Given the description of an element on the screen output the (x, y) to click on. 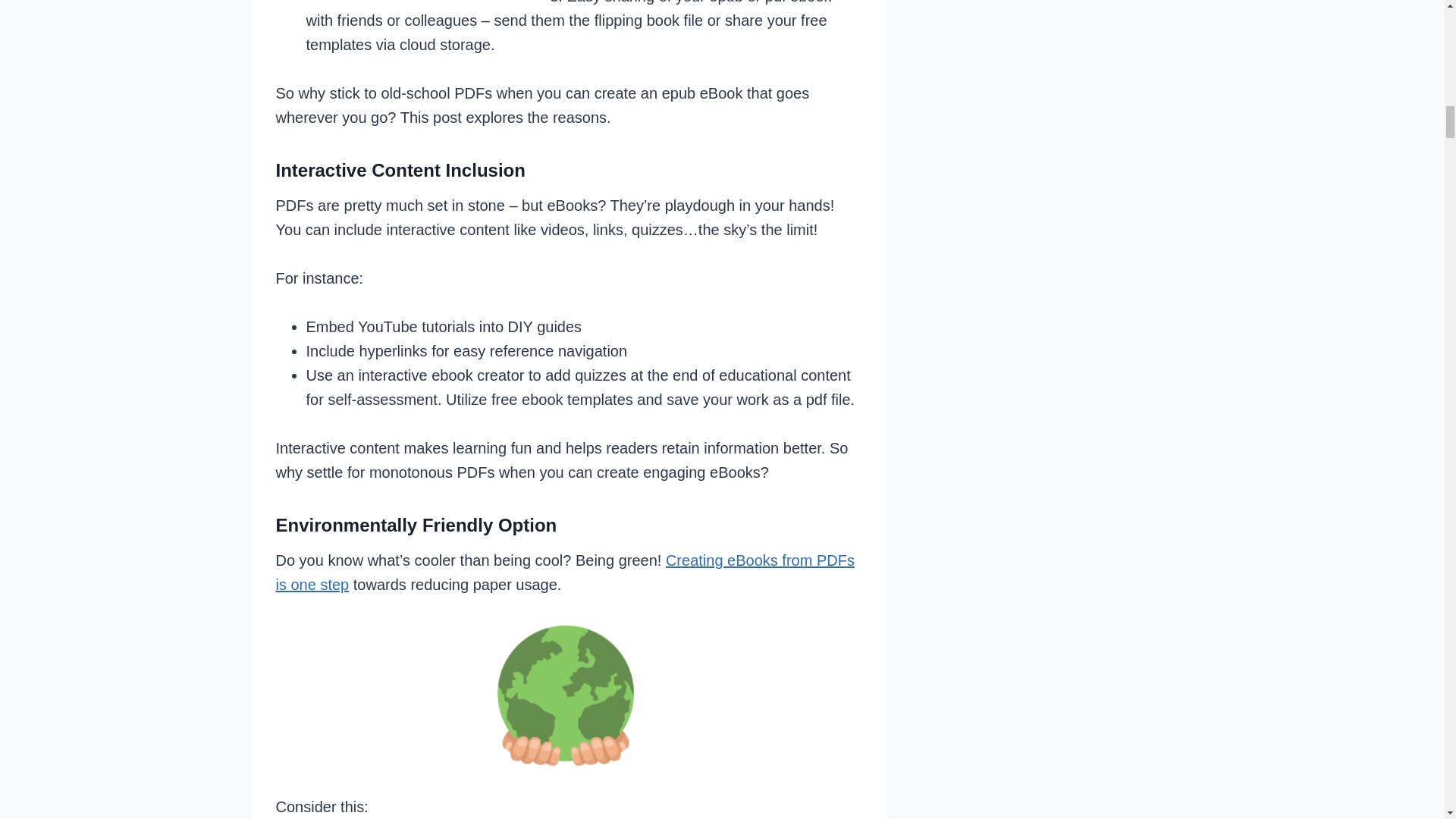
Creating eBooks from PDFs is one step (565, 572)
